Given the description of an element on the screen output the (x, y) to click on. 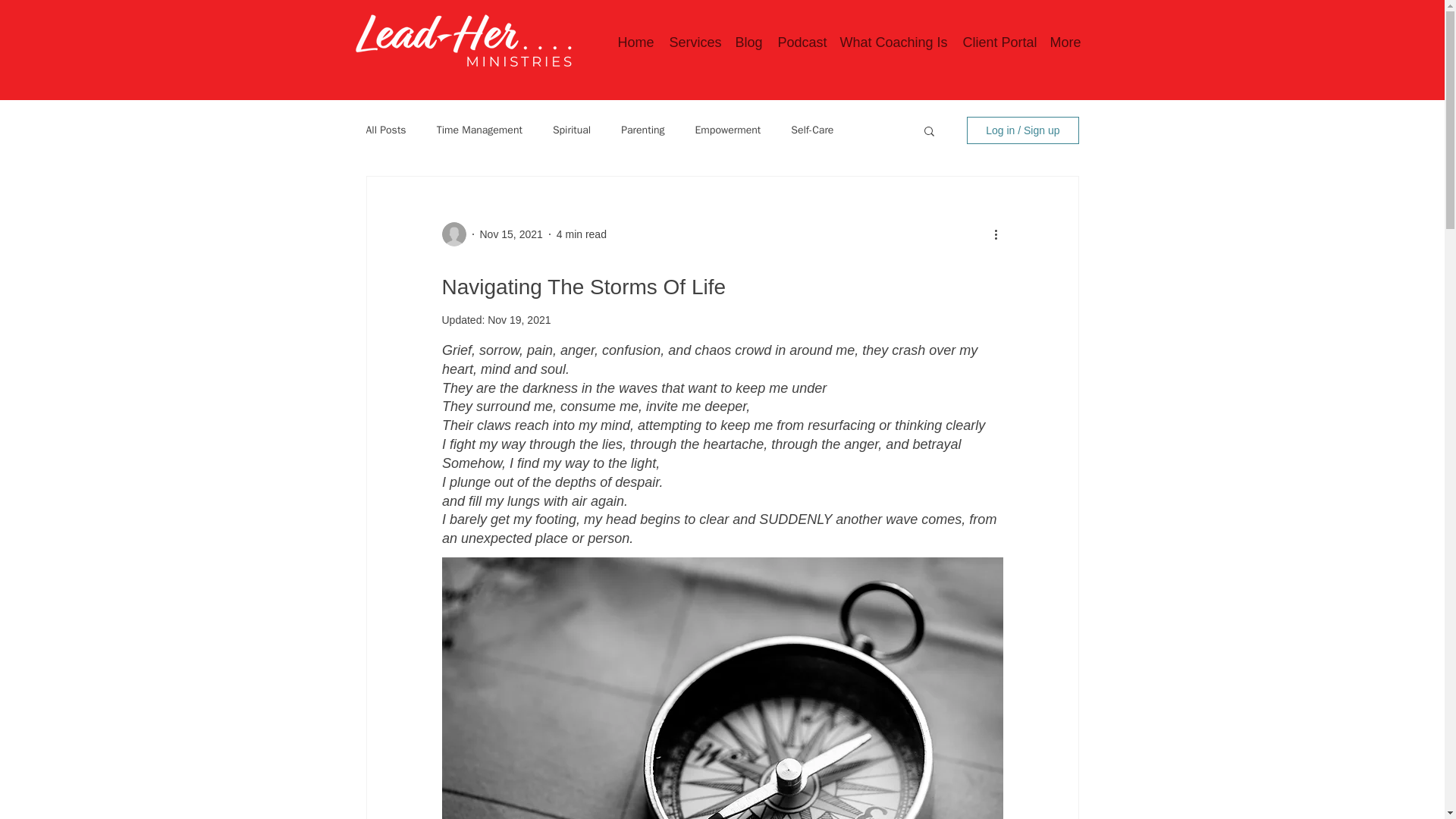
Blog (748, 42)
What Coaching Is (893, 42)
Time Management (479, 130)
Services (693, 42)
Nov 19, 2021 (518, 319)
All Posts (385, 130)
4 min read (581, 233)
Client Portal (998, 42)
Spiritual (572, 130)
Podcast (800, 42)
